Given the description of an element on the screen output the (x, y) to click on. 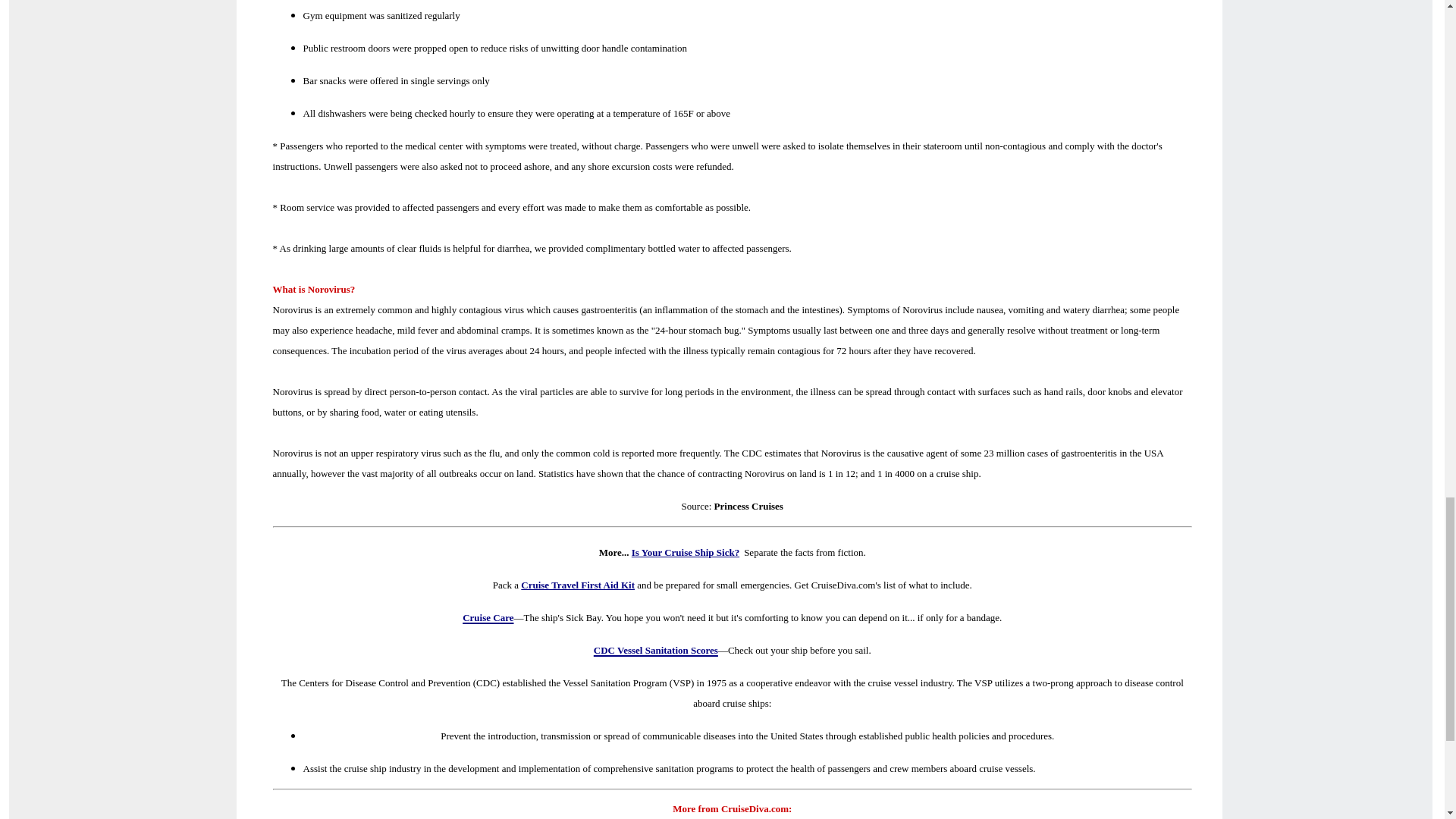
Cruise Care (488, 614)
Is Your Cruise Ship Sick? (685, 552)
Cruise Travel First Aid Kit (577, 584)
CDC Vessel Sanitation Scores (655, 647)
